Given the description of an element on the screen output the (x, y) to click on. 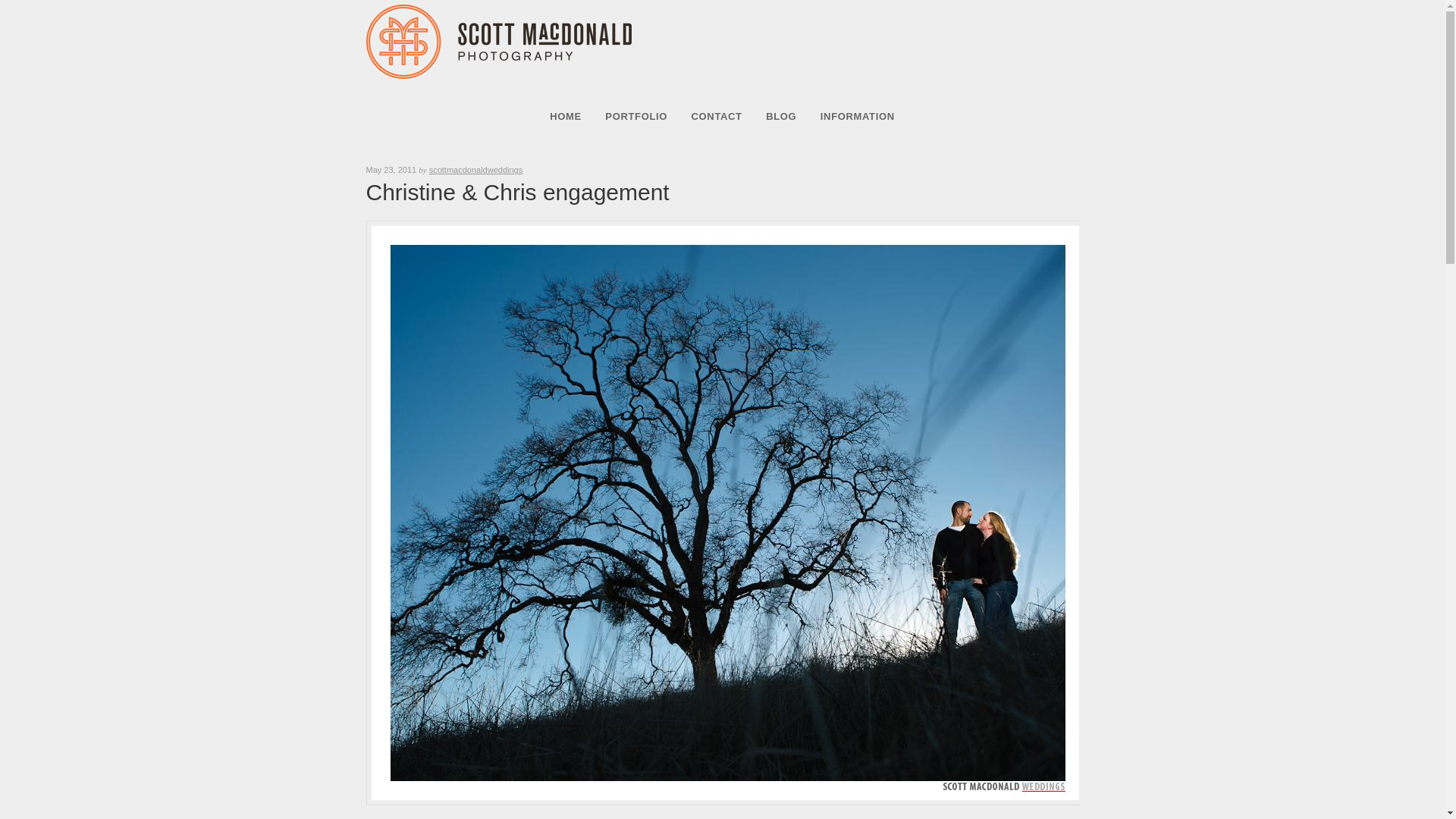
PORTFOLIO (636, 115)
scottmacdonaldweddings (475, 169)
BLOG (781, 115)
INFORMATION (856, 115)
HOME (566, 115)
View all posts by scottmacdonaldweddings (475, 169)
CONTACT (716, 115)
